Given the description of an element on the screen output the (x, y) to click on. 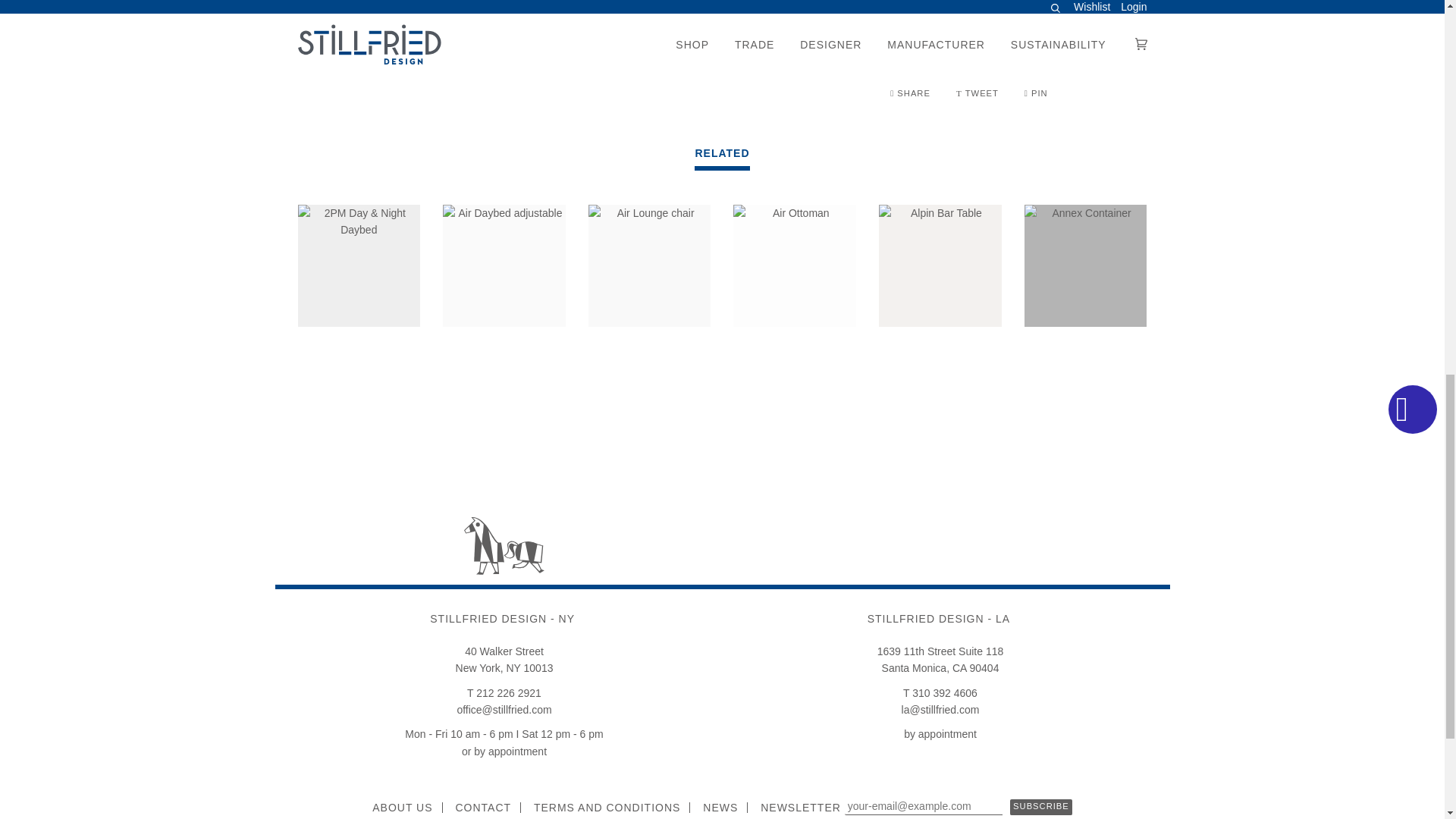
Add to Wishlist (1013, 50)
Subscribe (1040, 806)
tel:1-212-226-2921 (504, 693)
